Given the description of an element on the screen output the (x, y) to click on. 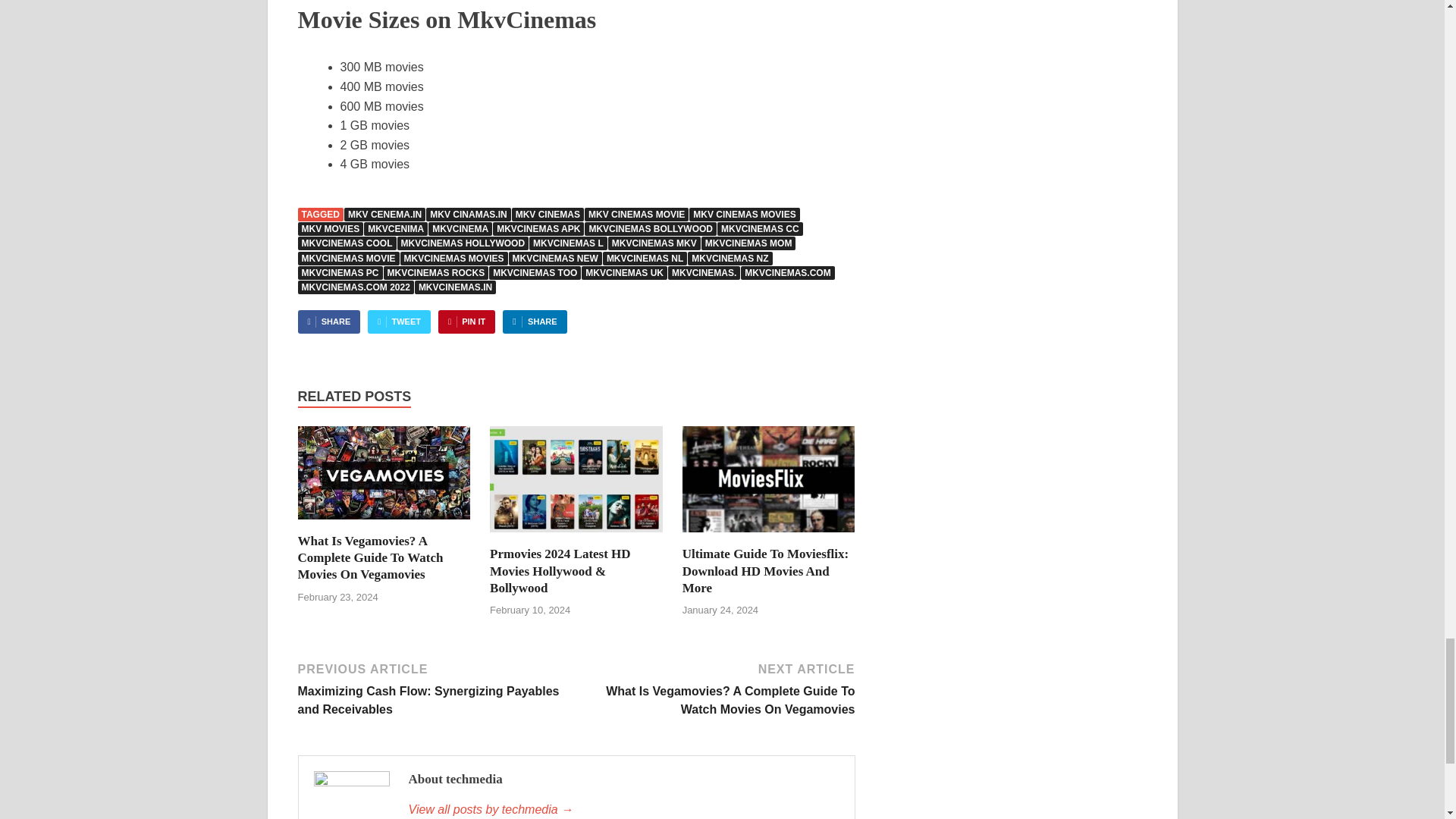
MKV CINEMAS (547, 214)
MKVCINEMAS APK (538, 228)
MKV CINAMAS.IN (468, 214)
MKVCINEMAS CC (760, 228)
MKV CENEMA.IN (384, 214)
techmedia (622, 809)
MKVCINEMAS L (568, 243)
MKV CINEMAS MOVIE (636, 214)
MKVCENIMA (396, 228)
MKVCINEMA (460, 228)
Ultimate Guide To Moviesflix: Download HD Movies And More (769, 535)
MKV MOVIES (329, 228)
MKVCINEMAS COOL (346, 243)
MKVCINEMAS BOLLYWOOD (650, 228)
